Given the description of an element on the screen output the (x, y) to click on. 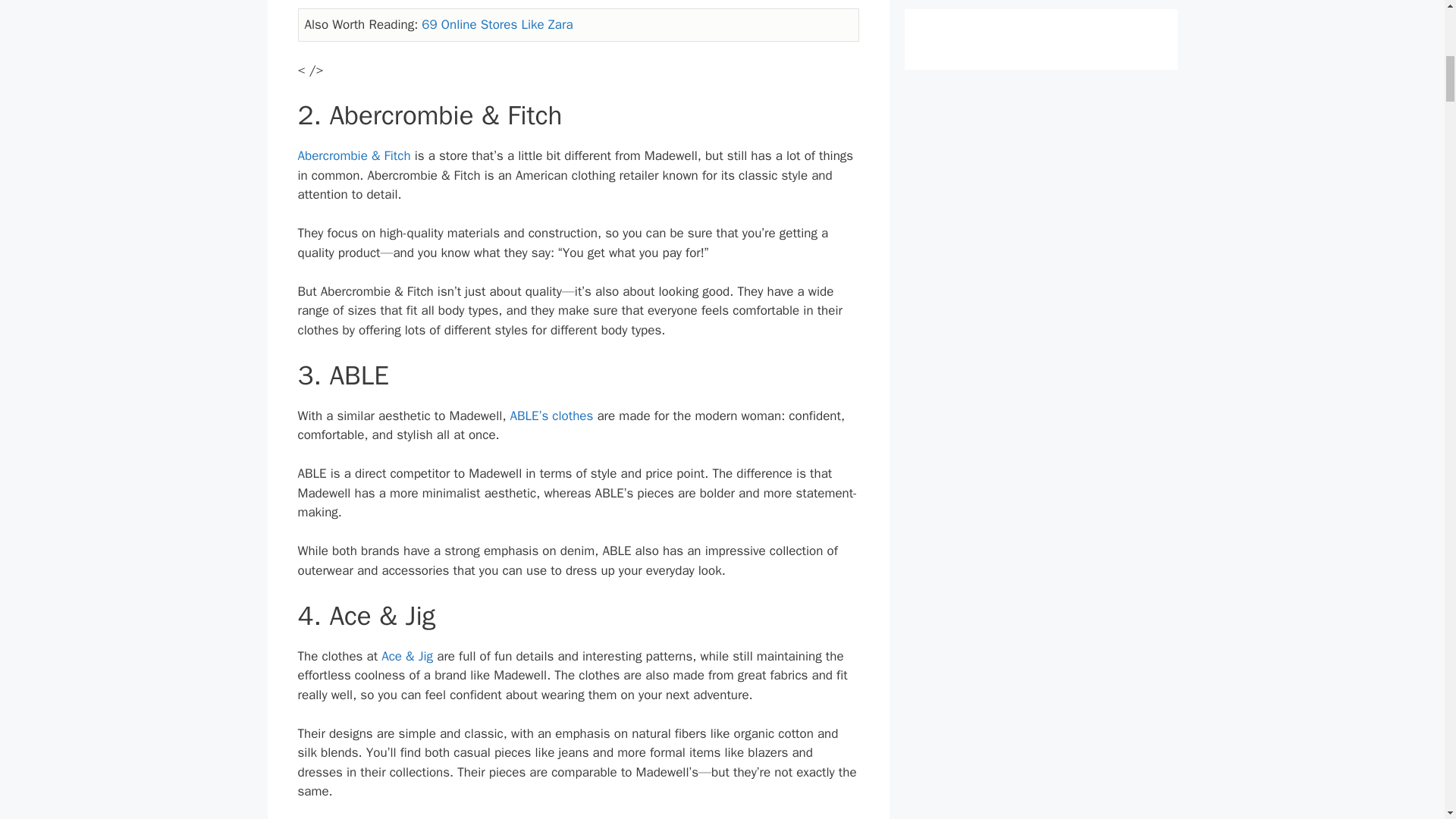
69 Online Stores Like Zara (497, 24)
